Given the description of an element on the screen output the (x, y) to click on. 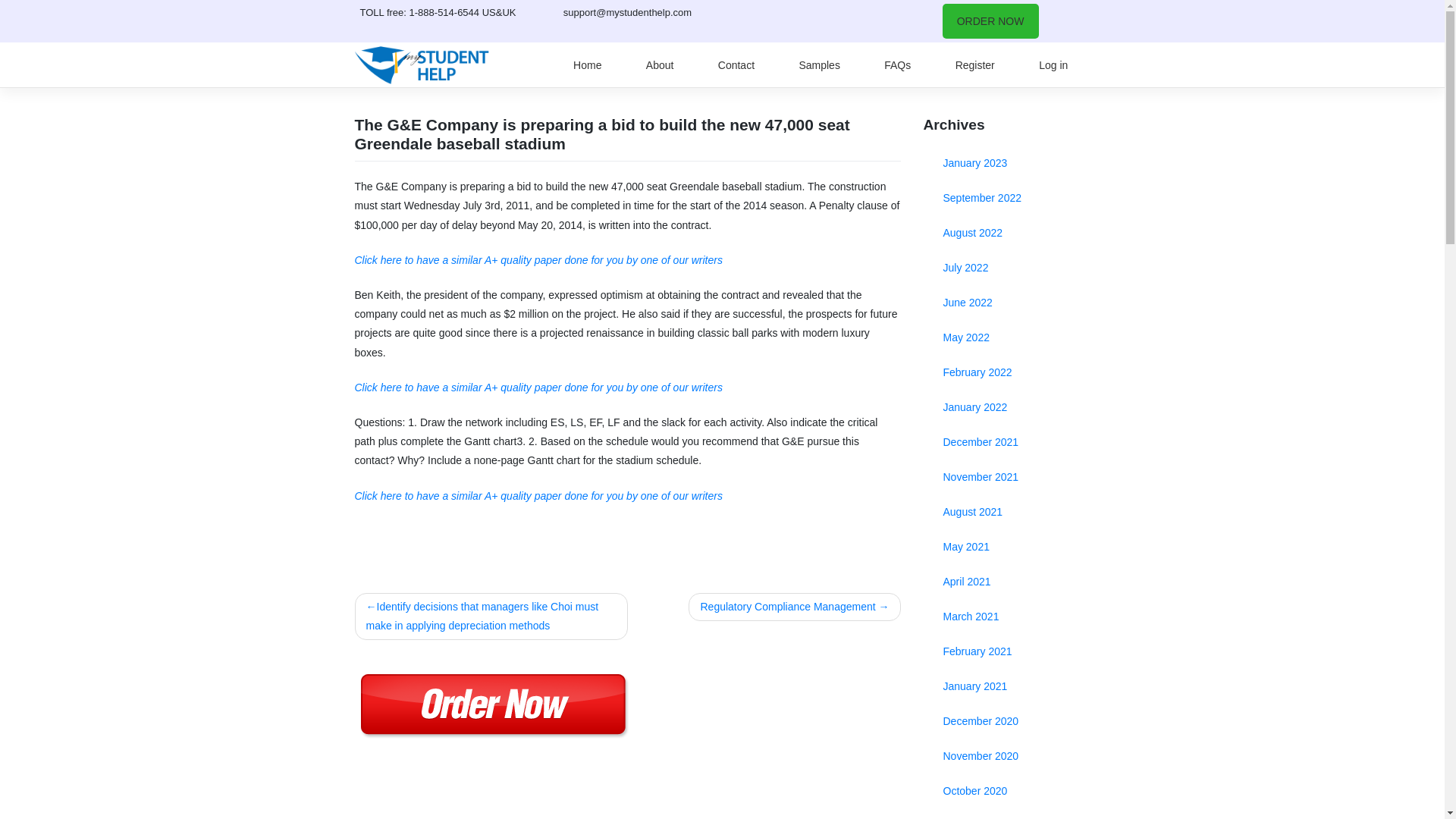
About (659, 64)
Samples (819, 64)
ORDER NOW (990, 21)
May 2022 (1007, 337)
Home (587, 64)
February 2021 (1007, 651)
Samples (819, 64)
November 2021 (1007, 476)
January 2023 (1007, 162)
November 2020 (1007, 755)
